Given the description of an element on the screen output the (x, y) to click on. 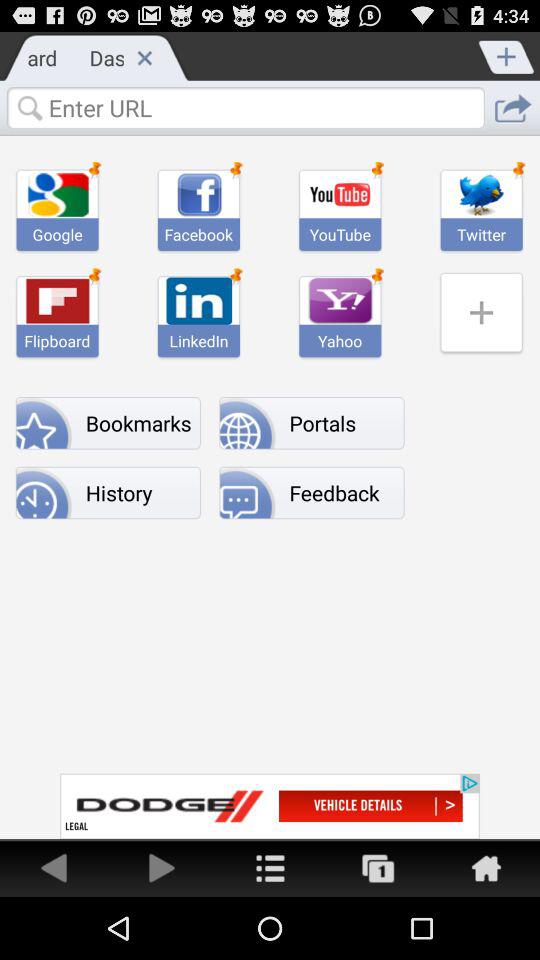
open new tab (507, 55)
